Given the description of an element on the screen output the (x, y) to click on. 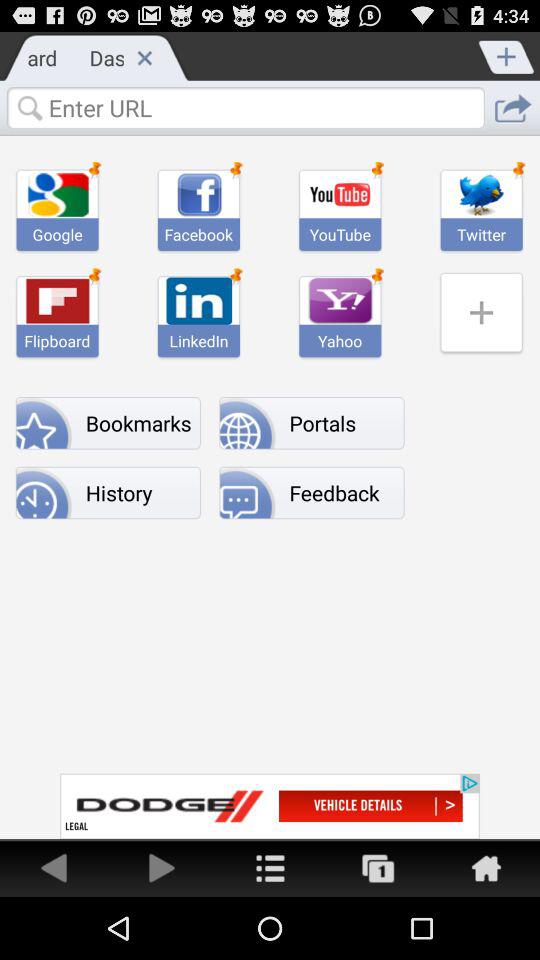
open new tab (507, 55)
